Given the description of an element on the screen output the (x, y) to click on. 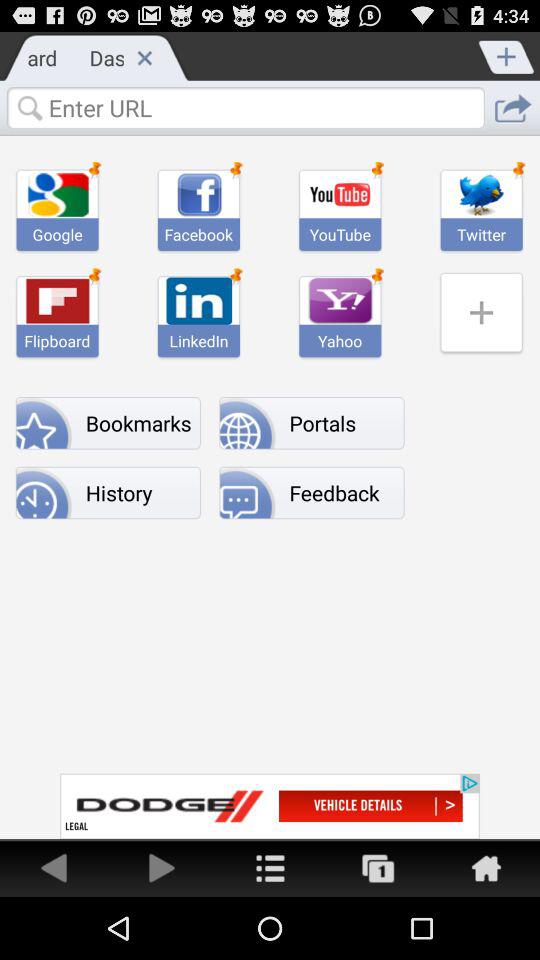
open new tab (507, 55)
